Given the description of an element on the screen output the (x, y) to click on. 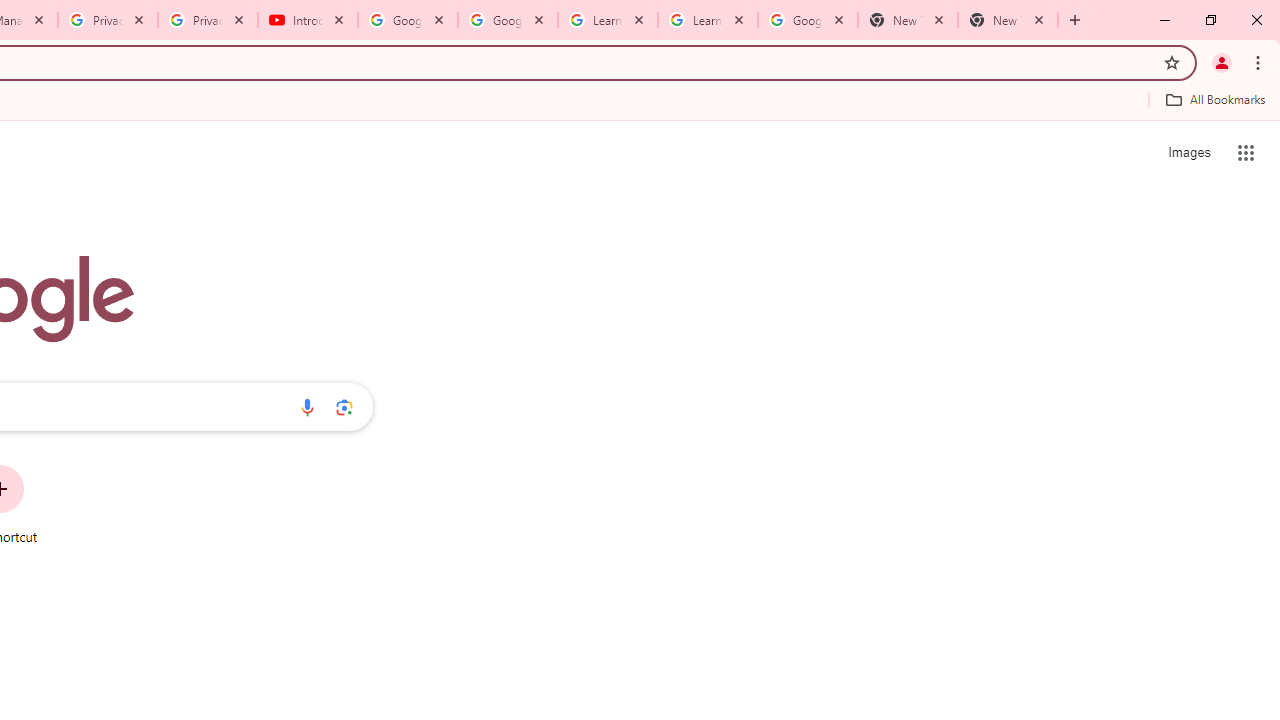
New Tab (1007, 20)
Google Account Help (508, 20)
New Tab (907, 20)
Google Account Help (408, 20)
